Given the description of an element on the screen output the (x, y) to click on. 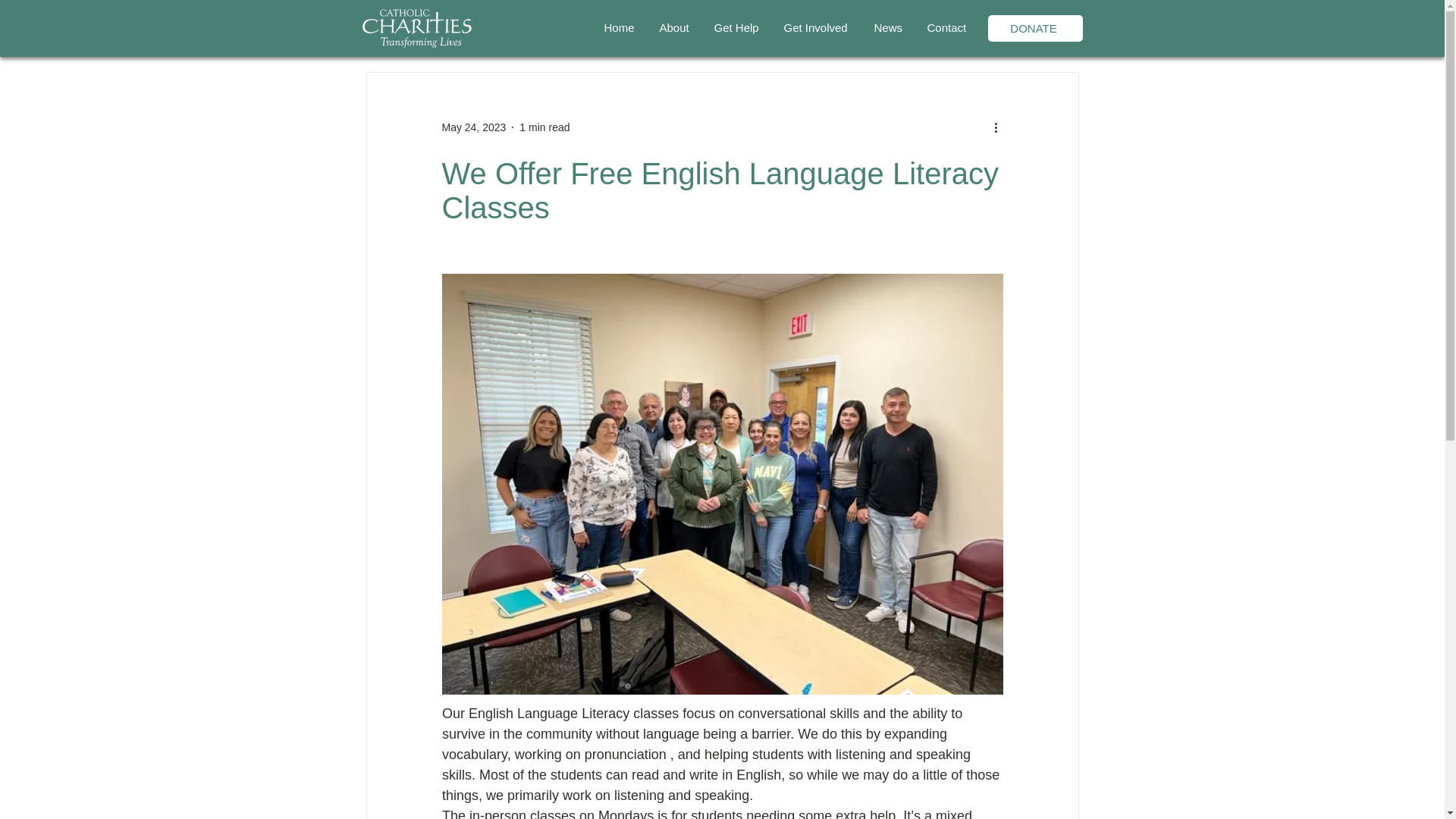
News (889, 27)
About (674, 27)
DONATE (1034, 28)
May 24, 2023 (473, 127)
Get Help (736, 27)
Home (619, 27)
Get Involved (816, 27)
1 min read (544, 127)
Contact (947, 27)
